Given the description of an element on the screen output the (x, y) to click on. 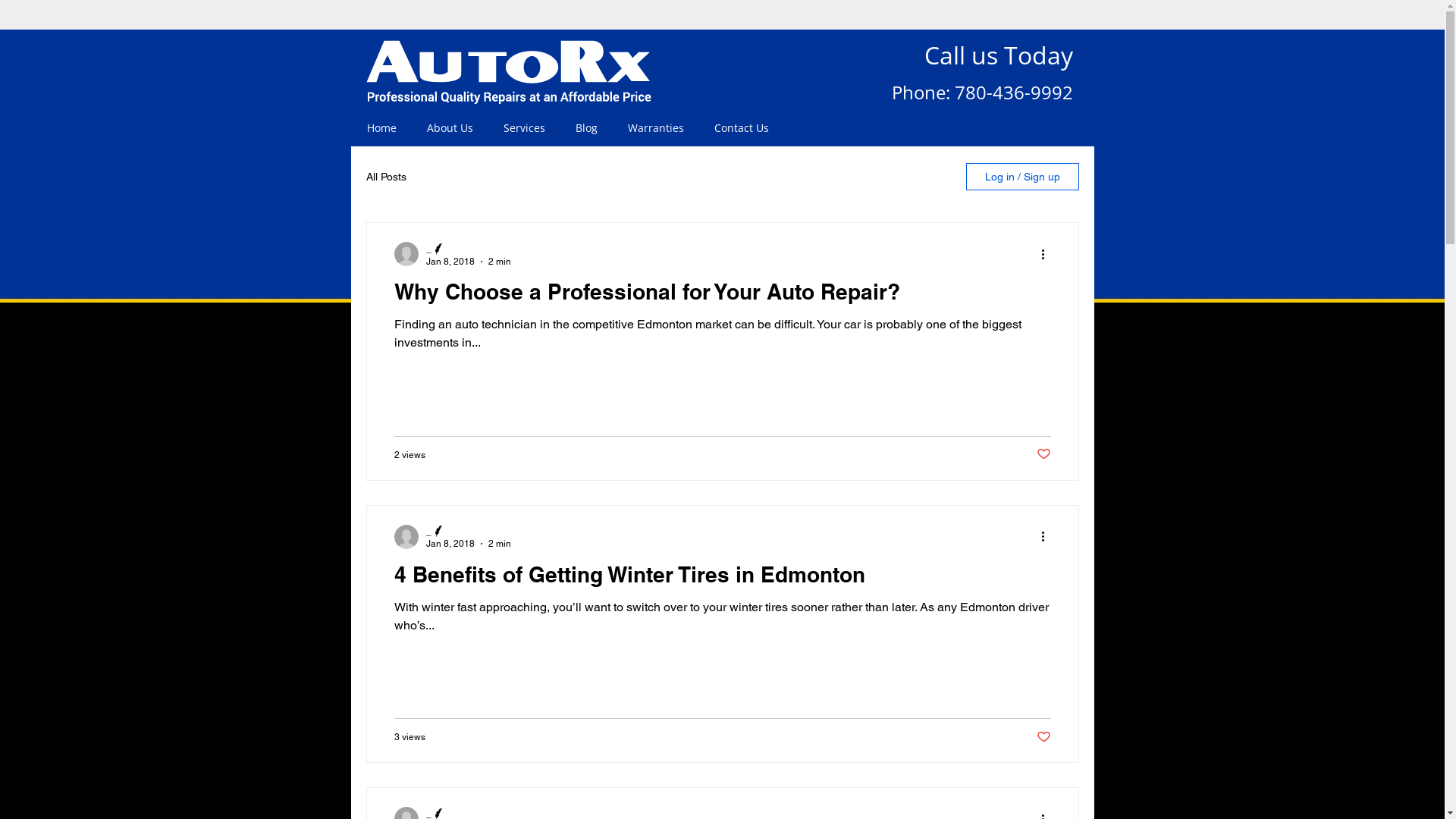
Post not marked as liked Element type: text (1042, 454)
Warranties Element type: text (655, 127)
Contact Us Element type: text (741, 127)
Post not marked as liked Element type: text (1042, 737)
About Us Element type: text (449, 127)
4 Benefits of Getting Winter Tires in Edmonton Element type: text (722, 577)
Log in / Sign up Element type: text (1022, 176)
780-436-9992 Element type: text (1012, 96)
Services Element type: text (524, 127)
Blog Element type: text (585, 127)
Home Element type: text (381, 127)
All Posts Element type: text (385, 176)
Why Choose a Professional for Your Auto Repair? Element type: text (722, 295)
